Given the description of an element on the screen output the (x, y) to click on. 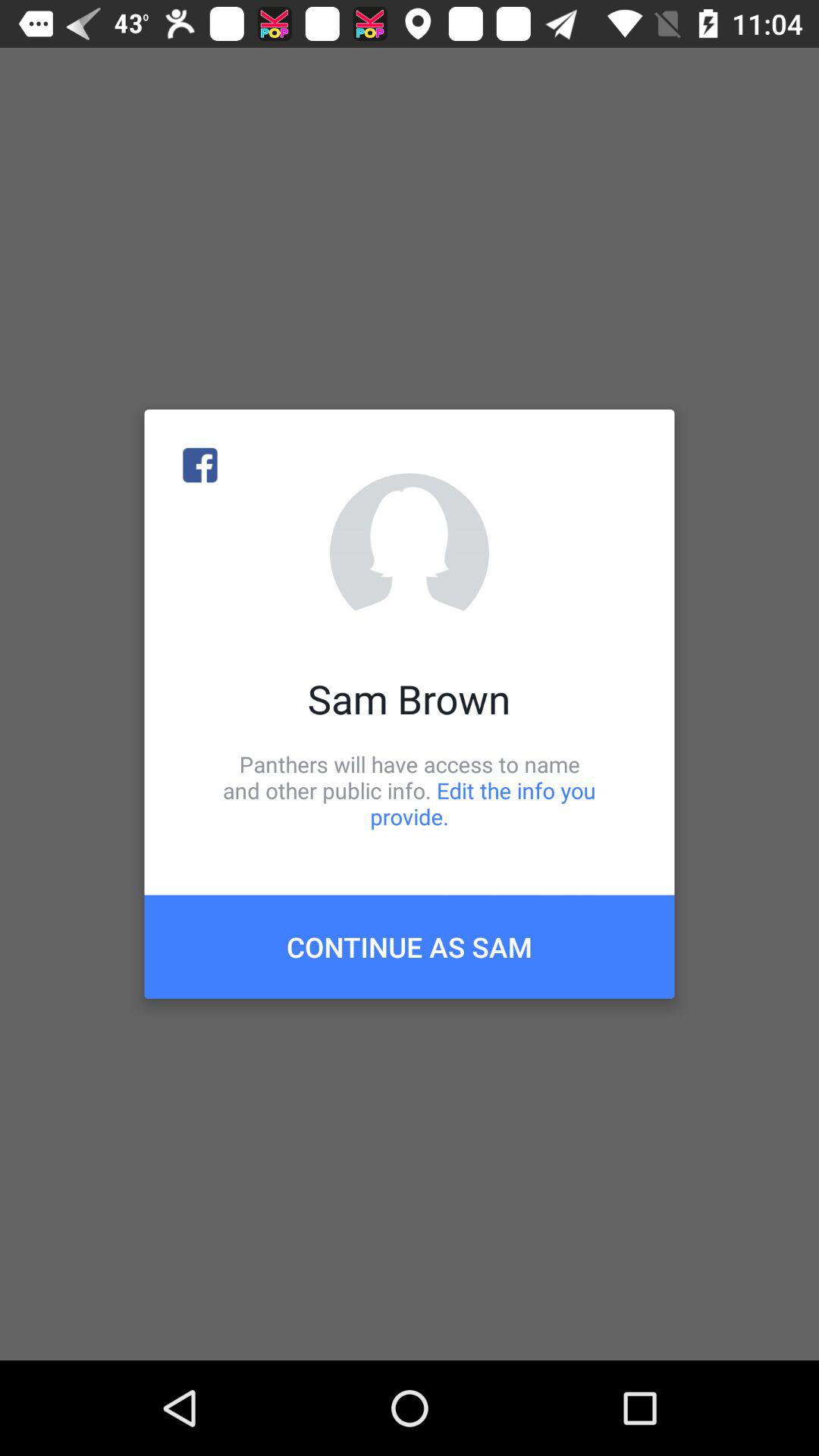
flip until panthers will have item (409, 790)
